Given the description of an element on the screen output the (x, y) to click on. 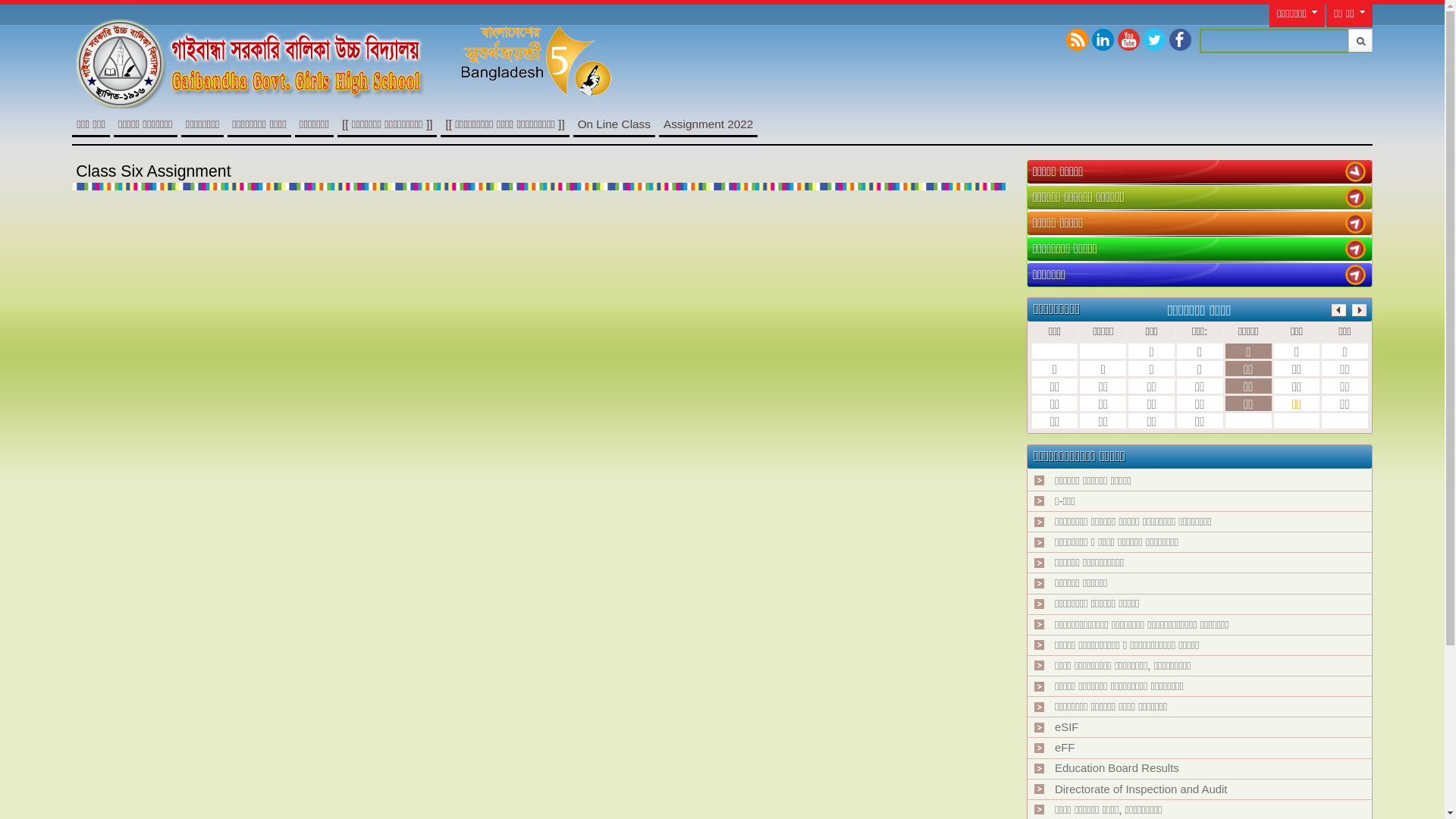
Submit Element type: text (1360, 40)
  Element type: text (1355, 248)
eFF Element type: text (1064, 747)
On Line Class Element type: text (614, 123)
  Element type: text (1355, 223)
Education Board Results Element type: text (1116, 768)
  Element type: text (1355, 197)
Assignment 2022 Element type: text (707, 123)
eSIF Element type: text (1066, 727)
  Element type: text (1355, 274)
  Element type: text (1355, 171)
Directorate of Inspection and Audit Element type: text (1140, 789)
